Given the description of an element on the screen output the (x, y) to click on. 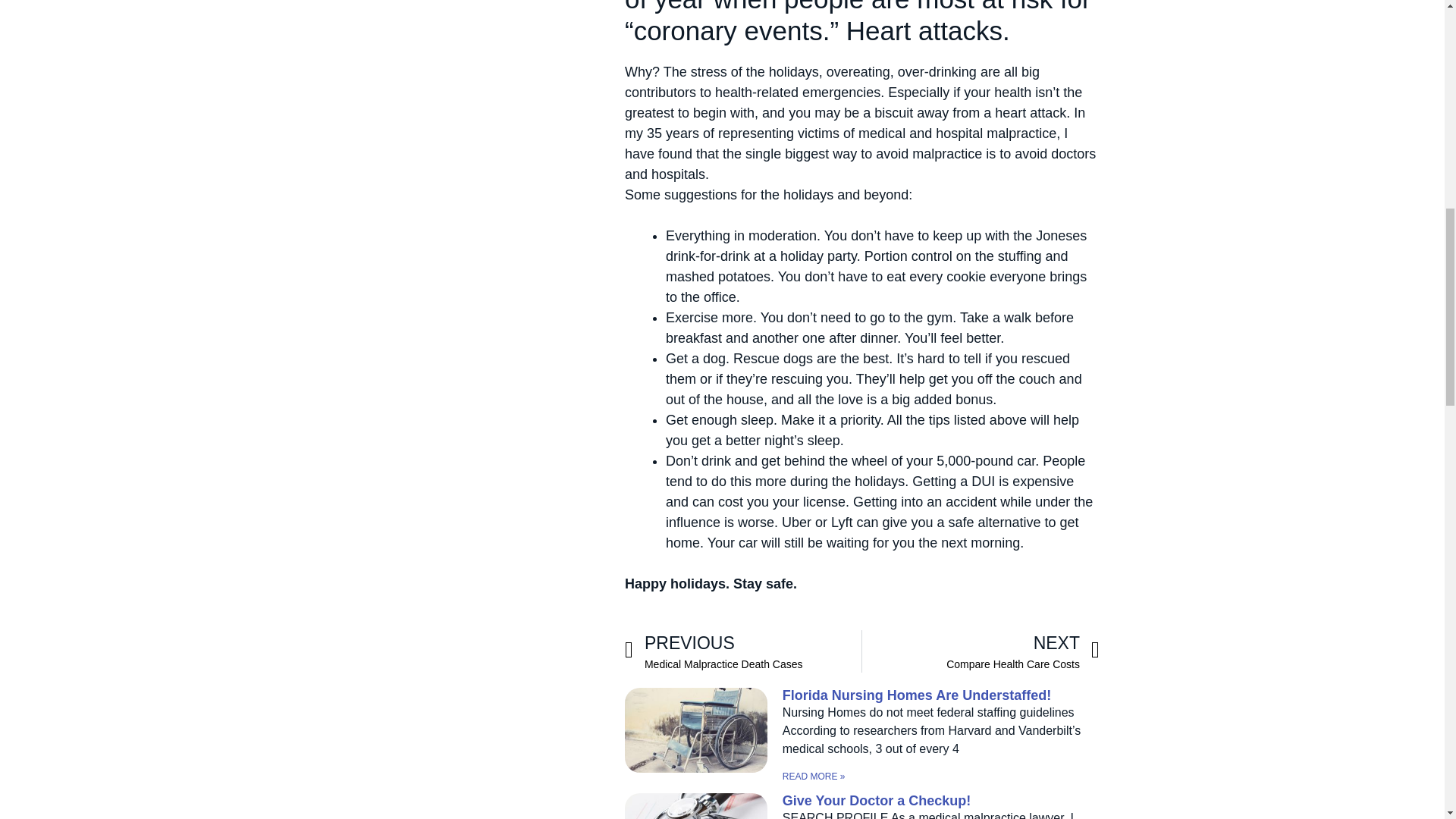
Give Your Doctor a Checkup! (742, 650)
Florida Nursing Homes Are Understaffed! (877, 800)
